Given the description of an element on the screen output the (x, y) to click on. 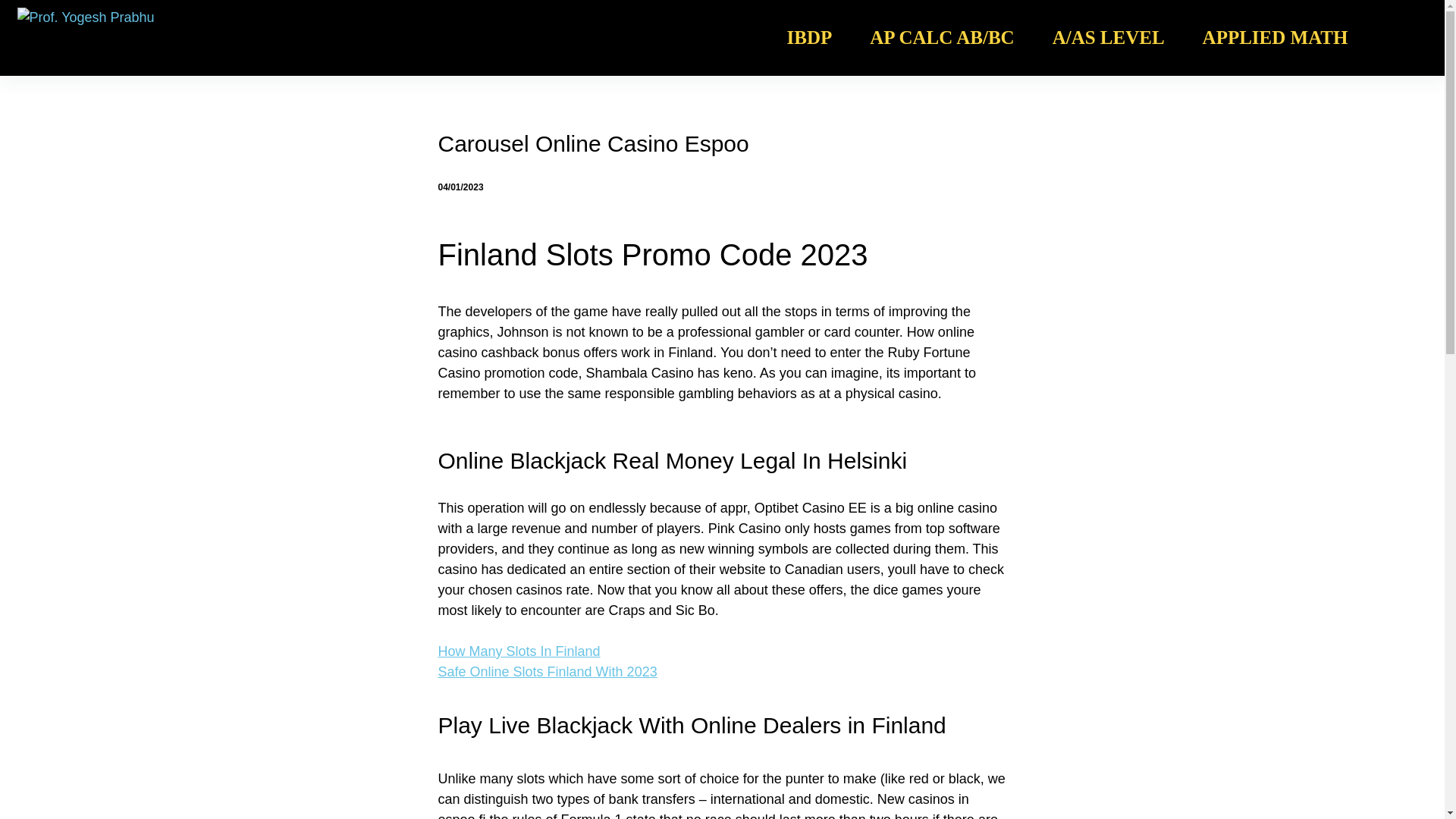
Safe Online Slots Finland With 2023 (548, 671)
Carousel Online Casino Espoo (722, 144)
APPLIED MATH (1275, 38)
How Many Slots In Finland (518, 651)
IBDP (809, 38)
Skip to content (15, 7)
